Given the description of an element on the screen output the (x, y) to click on. 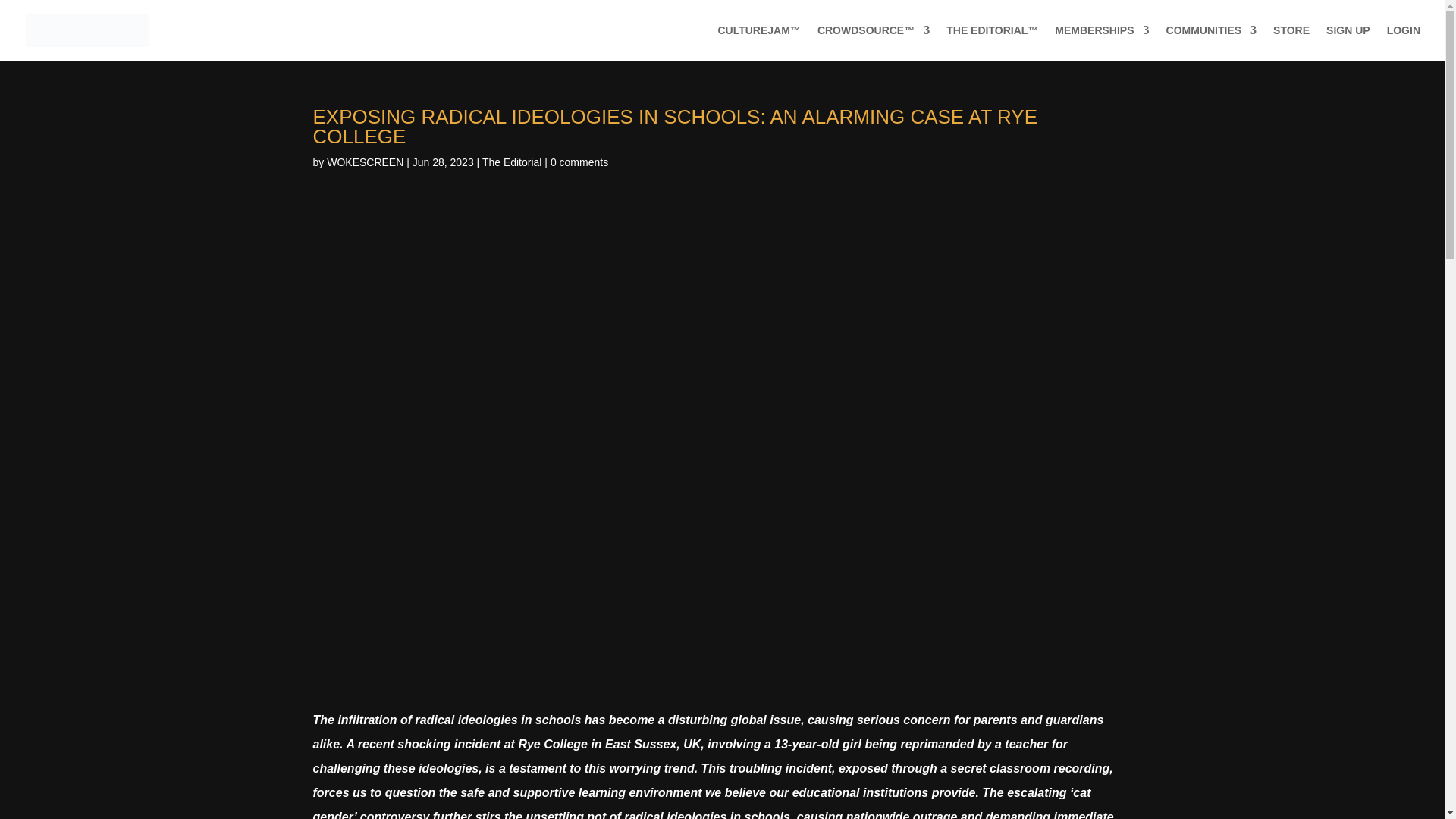
SIGN UP (1348, 42)
Posts by WOKESCREEN (364, 162)
0 comments (579, 162)
The Editorial (511, 162)
STORE (1290, 42)
COMMUNITIES (1211, 42)
MEMBERSHIPS (1101, 42)
WOKESCREEN (364, 162)
LOGIN (1404, 42)
